Given the description of an element on the screen output the (x, y) to click on. 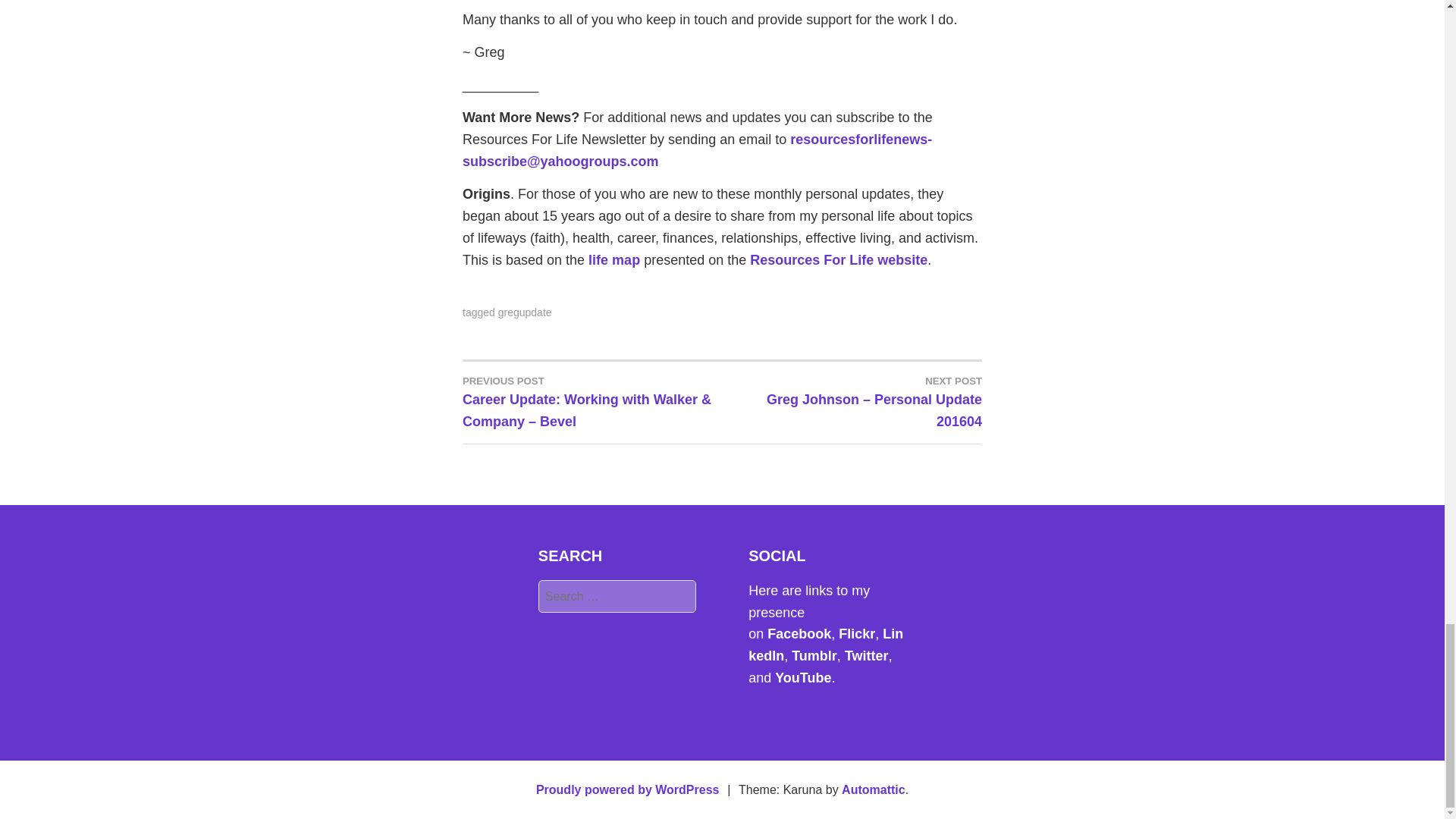
Resources For Life website (838, 259)
Tumblr (814, 655)
LinkedIn (825, 644)
Twitter (866, 655)
life map (614, 259)
gregupdate (524, 312)
Facebook (799, 633)
Flickr (856, 633)
